Given the description of an element on the screen output the (x, y) to click on. 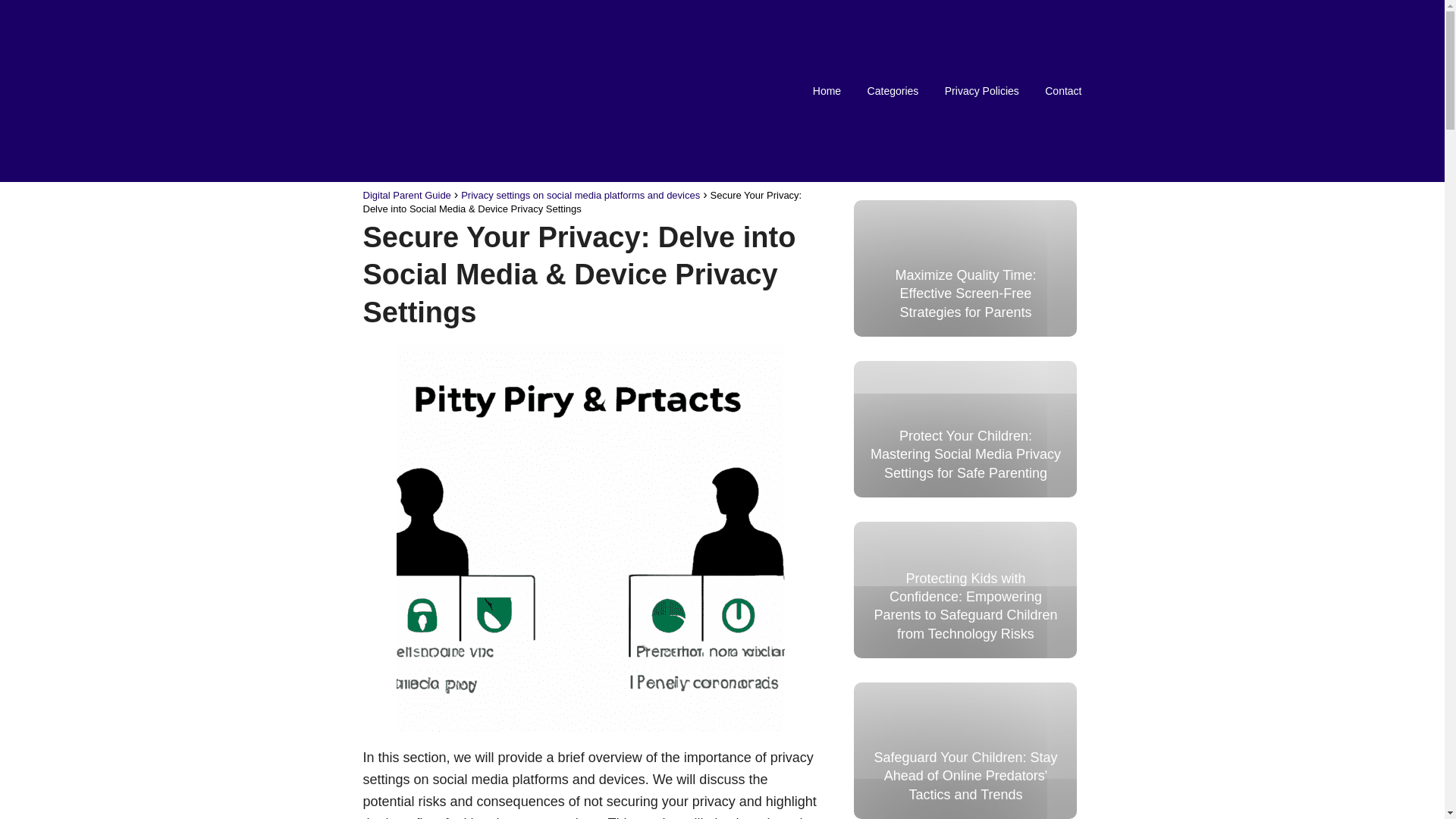
Digital Parent Guide (405, 194)
Privacy settings on social media platforms and devices (580, 194)
Home (826, 91)
Contact (1063, 91)
Categories (892, 91)
Privacy Policies (981, 91)
